Given the description of an element on the screen output the (x, y) to click on. 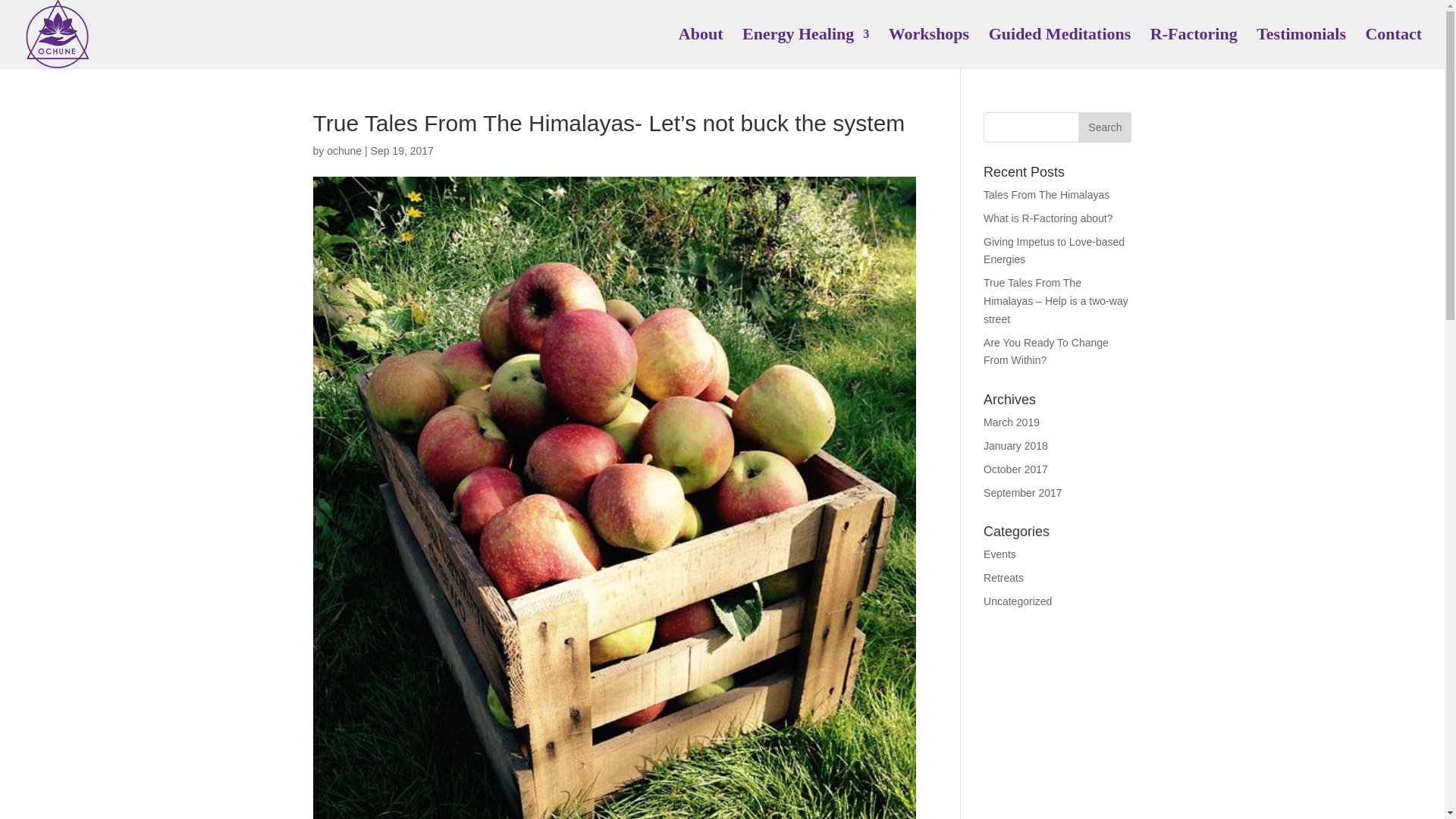
Energy Healing (805, 47)
Tales From The Himalayas (1046, 194)
ochune (343, 150)
January 2018 (1016, 445)
March 2019 (1011, 422)
Contact (1393, 47)
Guided Meditations (1059, 47)
Giving Impetus to Love-based Energies (1054, 250)
October 2017 (1016, 469)
Are You Ready To Change From Within? (1046, 351)
Retreats (1003, 577)
September 2017 (1023, 492)
Workshops (928, 47)
About (700, 47)
Search (1104, 127)
